Given the description of an element on the screen output the (x, y) to click on. 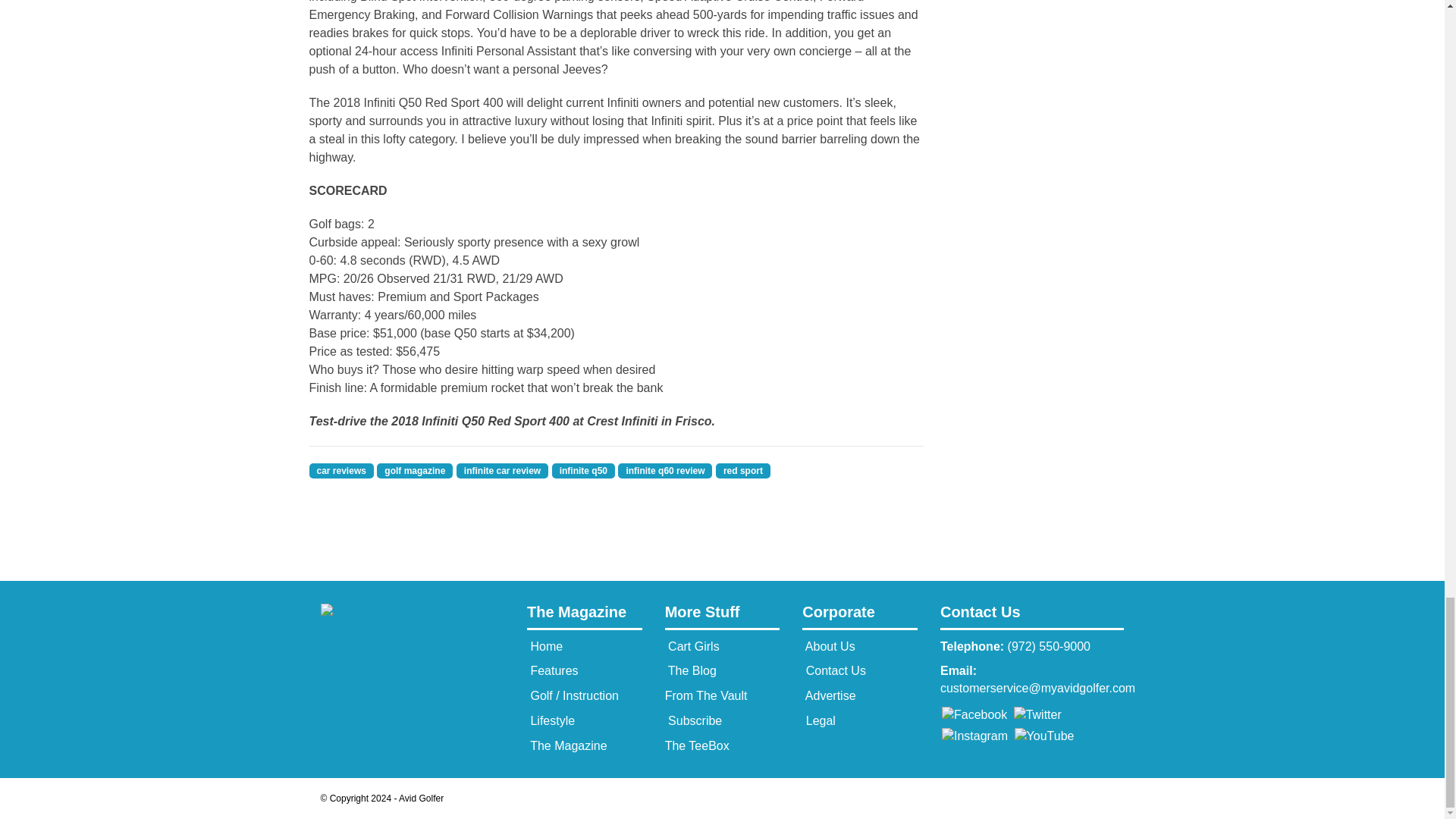
infinite car review (502, 470)
golf magazine (414, 470)
infinite q50 (582, 470)
Tag (341, 470)
The Magazine (584, 616)
car reviews (341, 470)
red sport (743, 470)
infinite q60 review (664, 470)
Tag (414, 470)
 Home (544, 645)
Tag (502, 470)
